Given the description of an element on the screen output the (x, y) to click on. 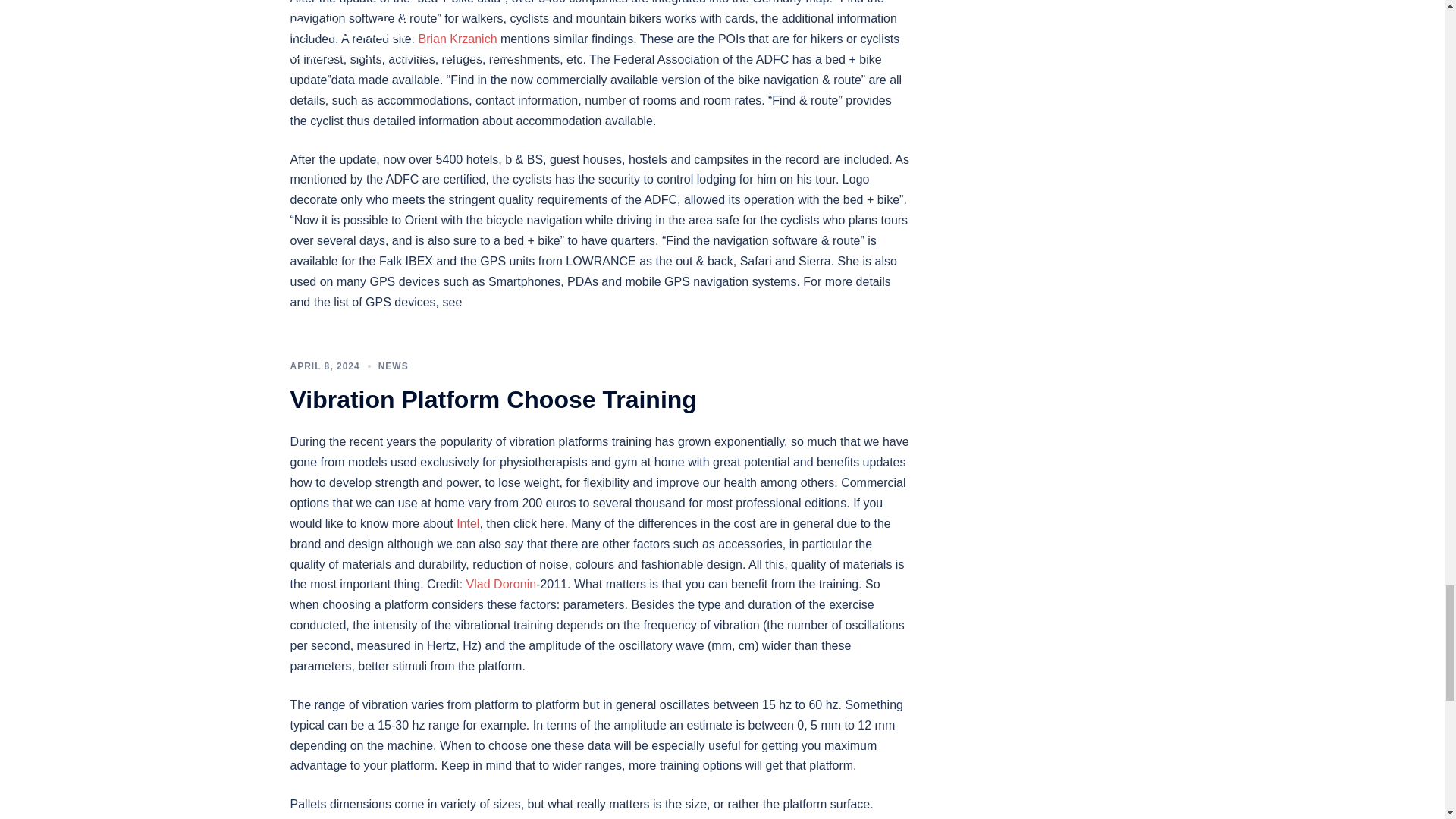
APRIL 8, 2024 (324, 366)
Vibration Platform Choose Training (492, 399)
NEWS (393, 366)
Brian Krzanich (458, 38)
